Given the description of an element on the screen output the (x, y) to click on. 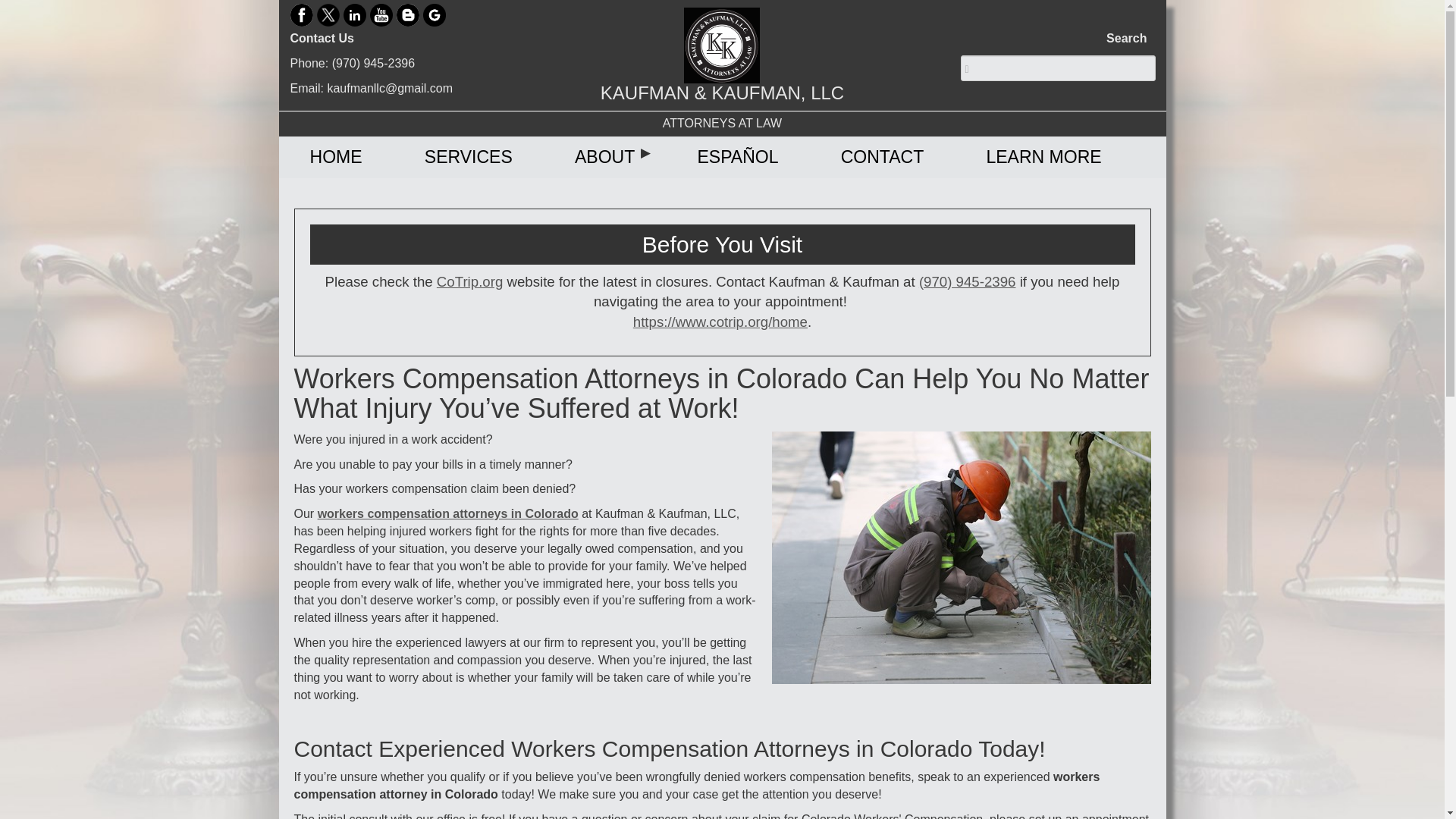
HOME (335, 157)
ABOUT (604, 157)
CONTACT (881, 157)
LEARN MORE (1043, 157)
workers compensation attorneys in Colorado (447, 513)
SERVICES (468, 157)
CoTrip.org (469, 280)
Contact Us (321, 38)
